Given the description of an element on the screen output the (x, y) to click on. 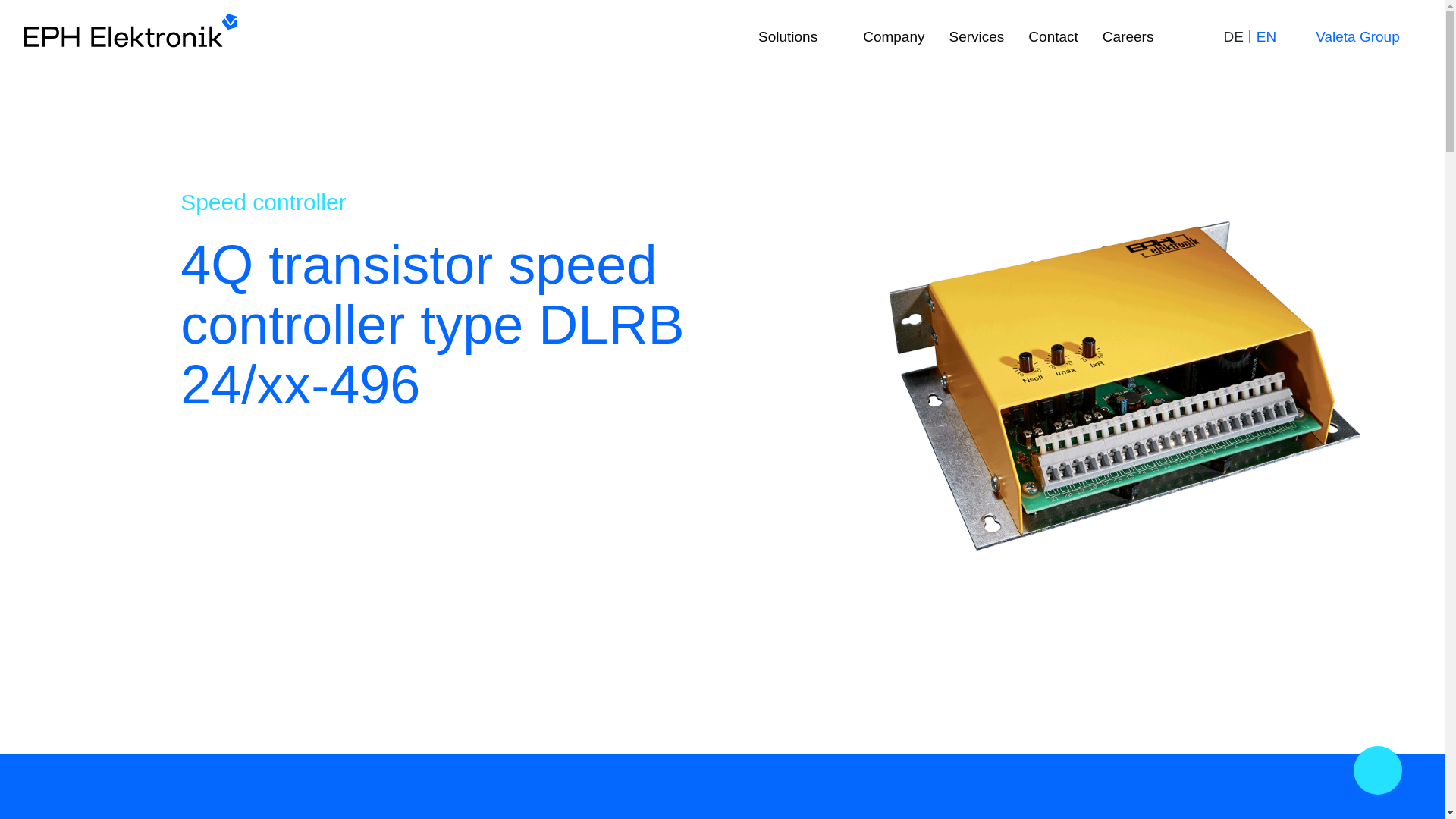
Services (976, 37)
DE (1233, 36)
EN (1266, 36)
Careers (1128, 37)
Contact (1053, 37)
Company (893, 37)
Valeta Group (1348, 37)
